Given the description of an element on the screen output the (x, y) to click on. 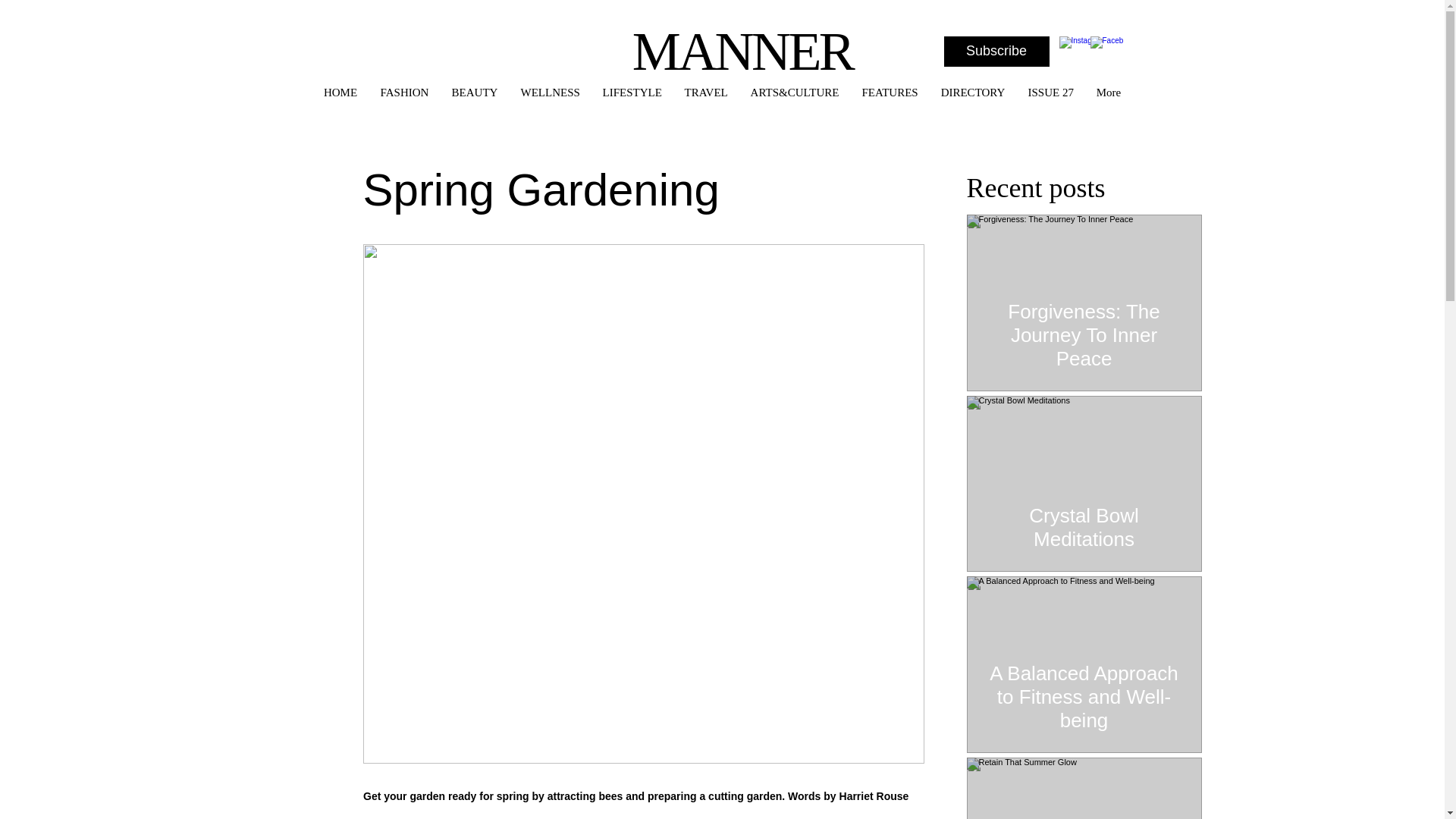
TRAVEL (705, 92)
HOME (341, 92)
LIFESTYLE (631, 92)
WELLNESS (550, 92)
FASHION (403, 92)
MANNER (741, 51)
Crystal Bowl Meditations (1082, 520)
A Balanced Approach to Fitness and Well-being (1082, 689)
ISSUE 27 (1050, 92)
FEATURES (890, 92)
